Given the description of an element on the screen output the (x, y) to click on. 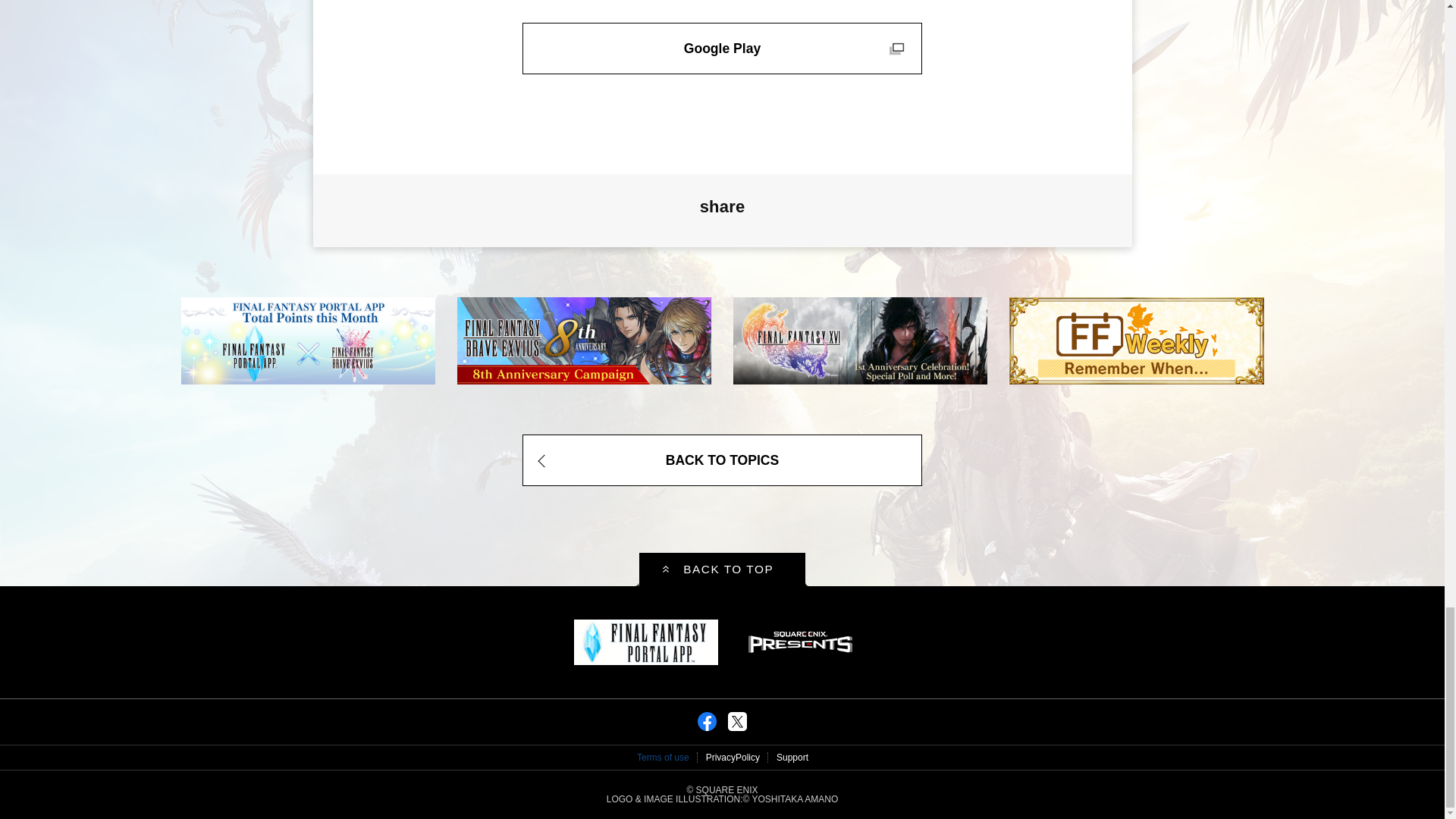
BACK TO TOPICS (721, 460)
BACK TO TOP (722, 569)
BACK TO TOP (722, 569)
PrivacyPolicy (733, 757)
Terms of use (662, 757)
Support (792, 757)
Google Play (721, 48)
